Given the description of an element on the screen output the (x, y) to click on. 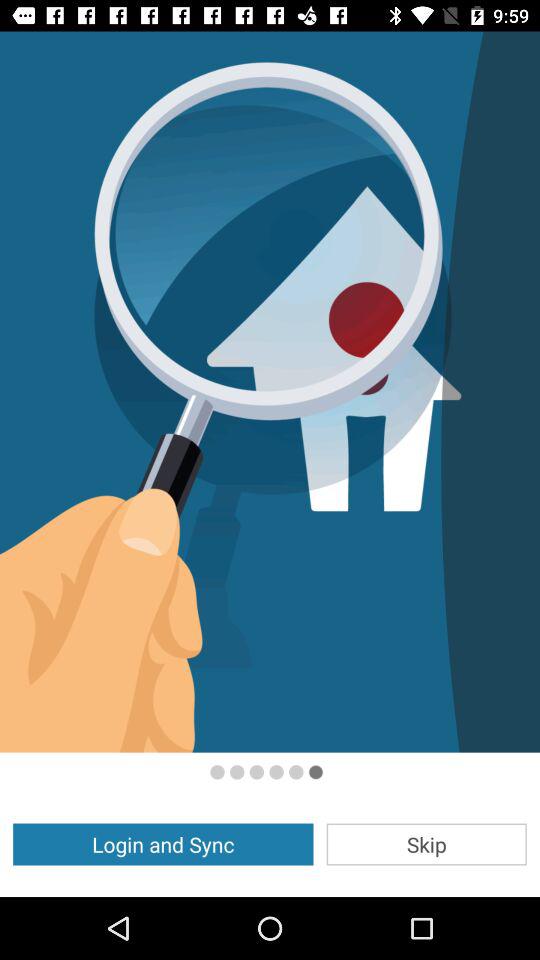
jump to login and sync (163, 844)
